Given the description of an element on the screen output the (x, y) to click on. 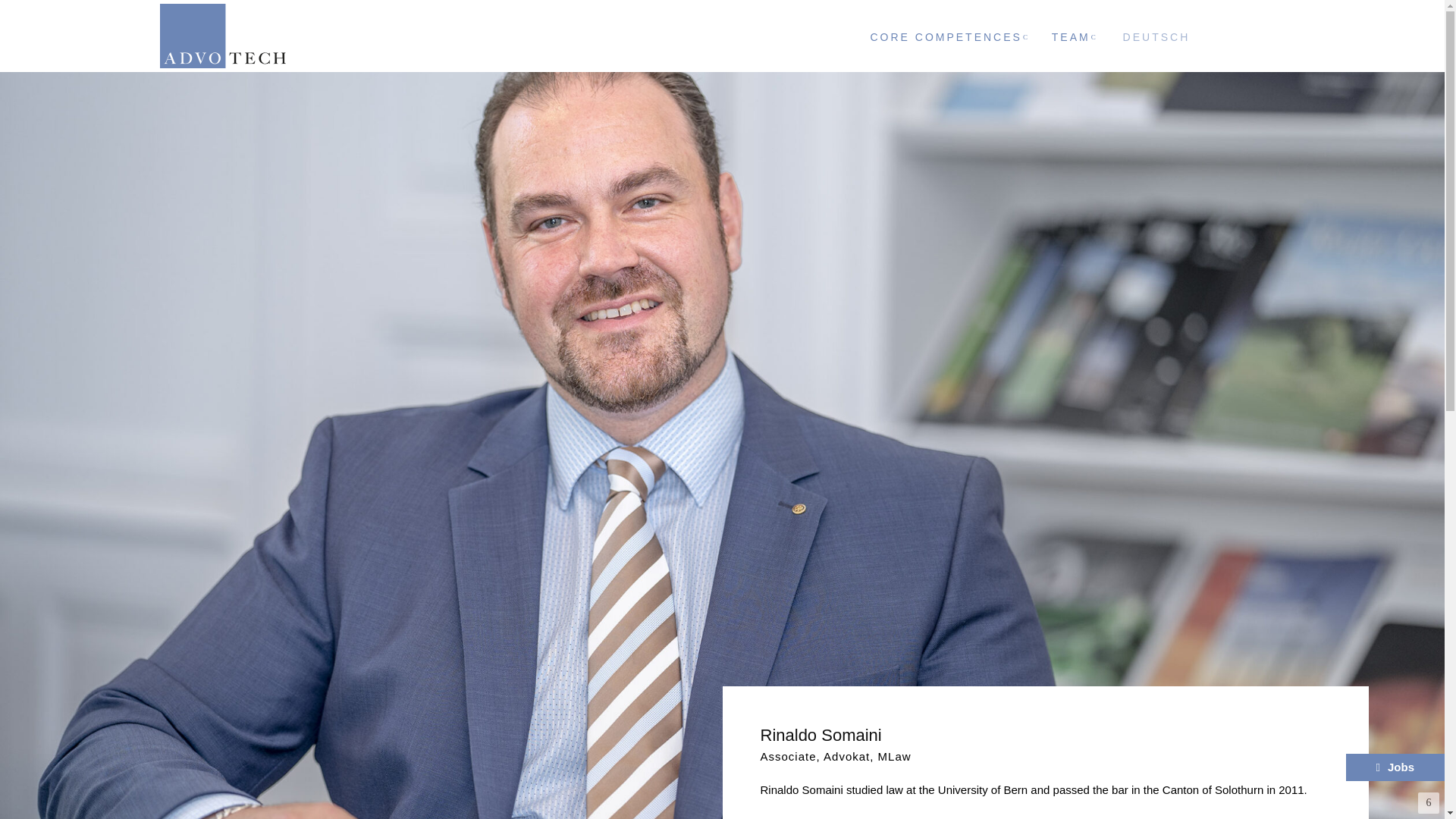
Scroll to top Element type: hover (1428, 802)
TEAM Element type: text (1070, 36)
DEUTSCH Element type: text (1154, 37)
CORE COMPETENCES Element type: text (945, 36)
